Given the description of an element on the screen output the (x, y) to click on. 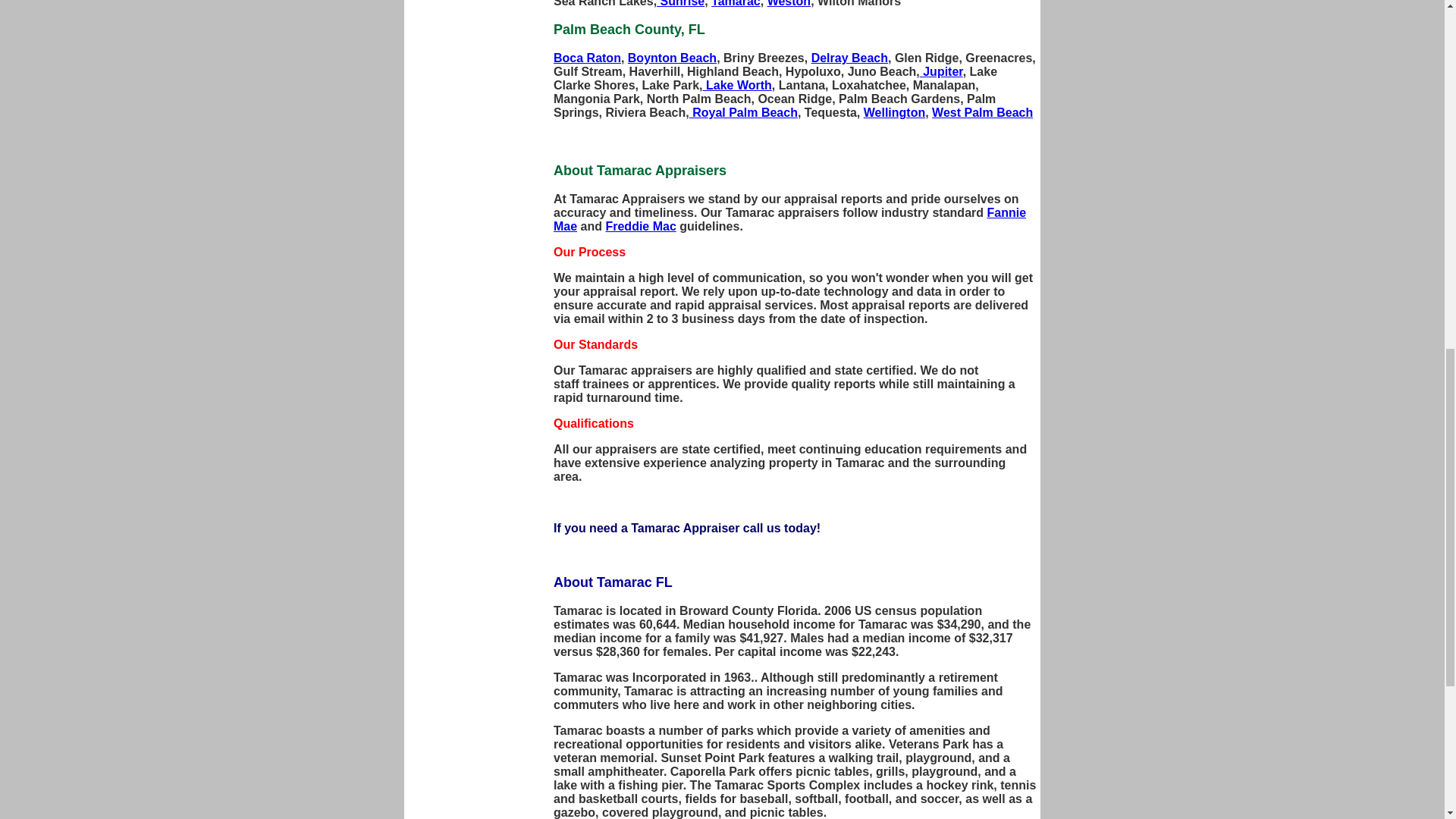
Delray Beach (849, 57)
Fannie Mae (789, 219)
Jupiter (941, 71)
Royal Palm Beach (742, 112)
Wellington (893, 112)
West Palm Beach (981, 112)
Sunrise (680, 3)
Lake Worth (737, 84)
Weston (788, 3)
Boca Raton (587, 57)
Tamarac (735, 3)
Boynton Beach (671, 57)
Freddie Mac (640, 226)
